Given the description of an element on the screen output the (x, y) to click on. 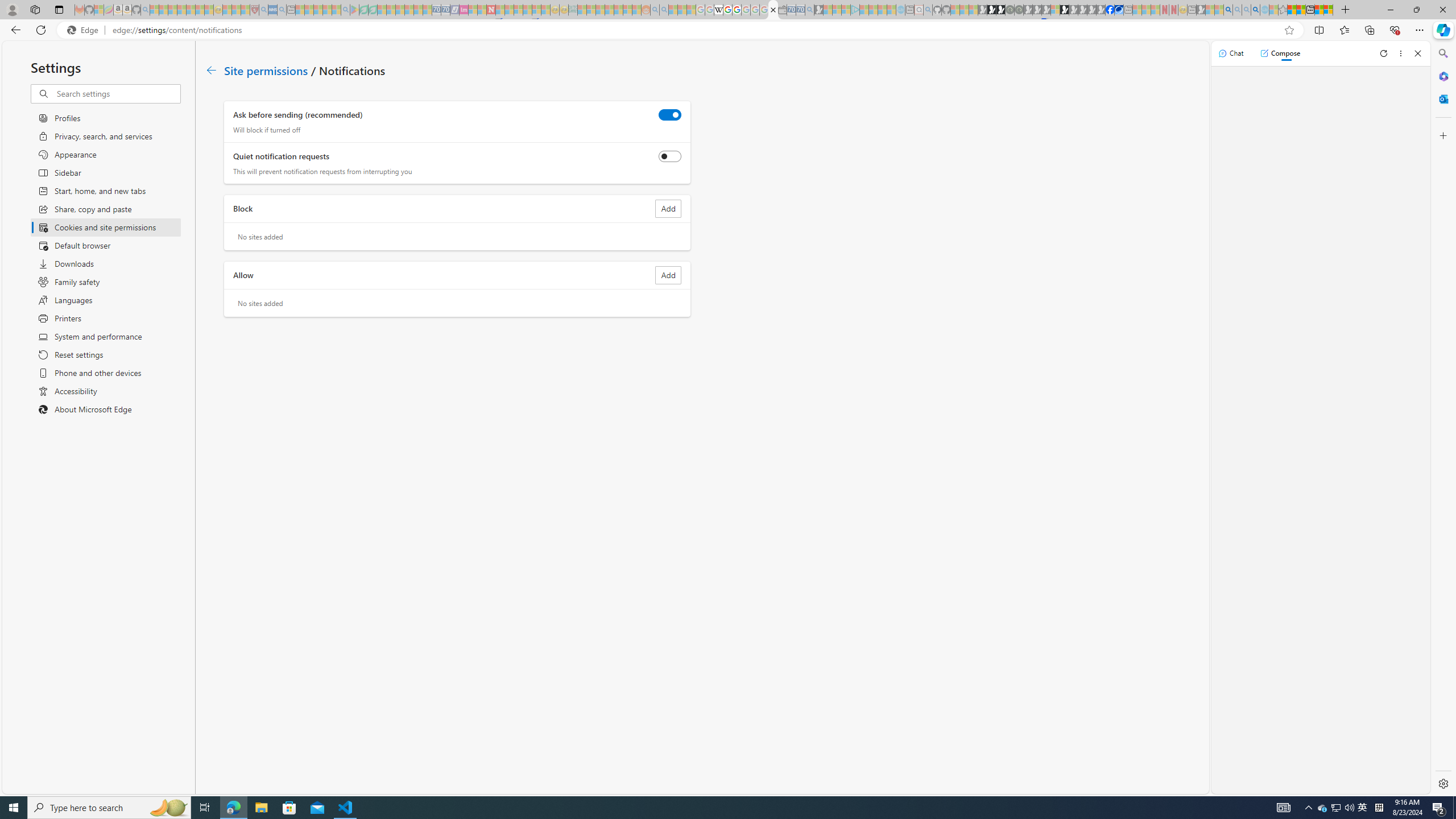
Cheap Hotels - Save70.com - Sleeping (445, 9)
Ask before sending (recommended) (669, 114)
Pets - MSN - Sleeping (326, 9)
Class: c01182 (210, 70)
Cheap Car Rentals - Save70.com - Sleeping (799, 9)
Local - MSN - Sleeping (244, 9)
Microsoft Start Gaming - Sleeping (818, 9)
